Given the description of an element on the screen output the (x, y) to click on. 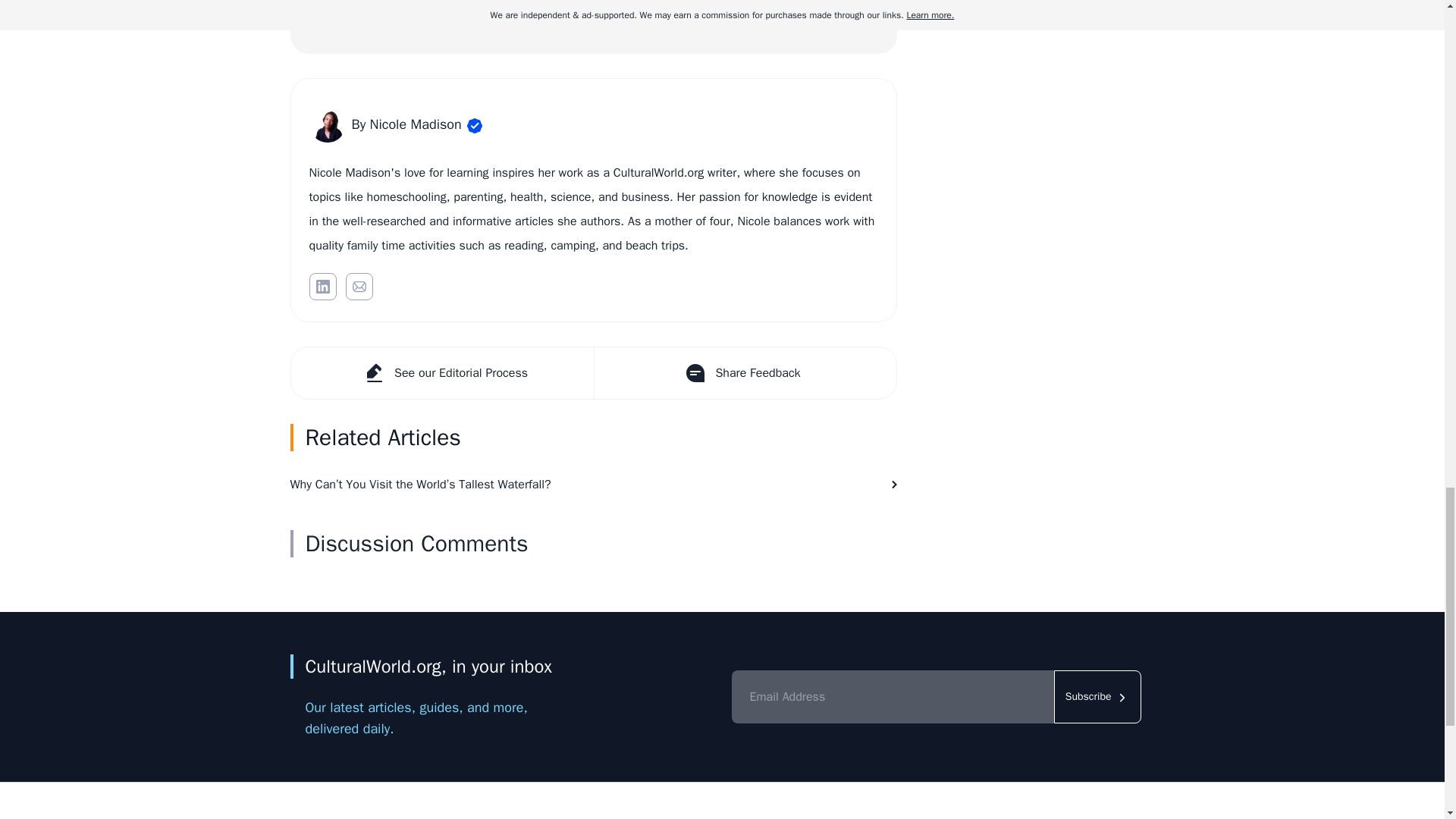
See our Editorial Process (442, 372)
Share Feedback (743, 372)
